Given the description of an element on the screen output the (x, y) to click on. 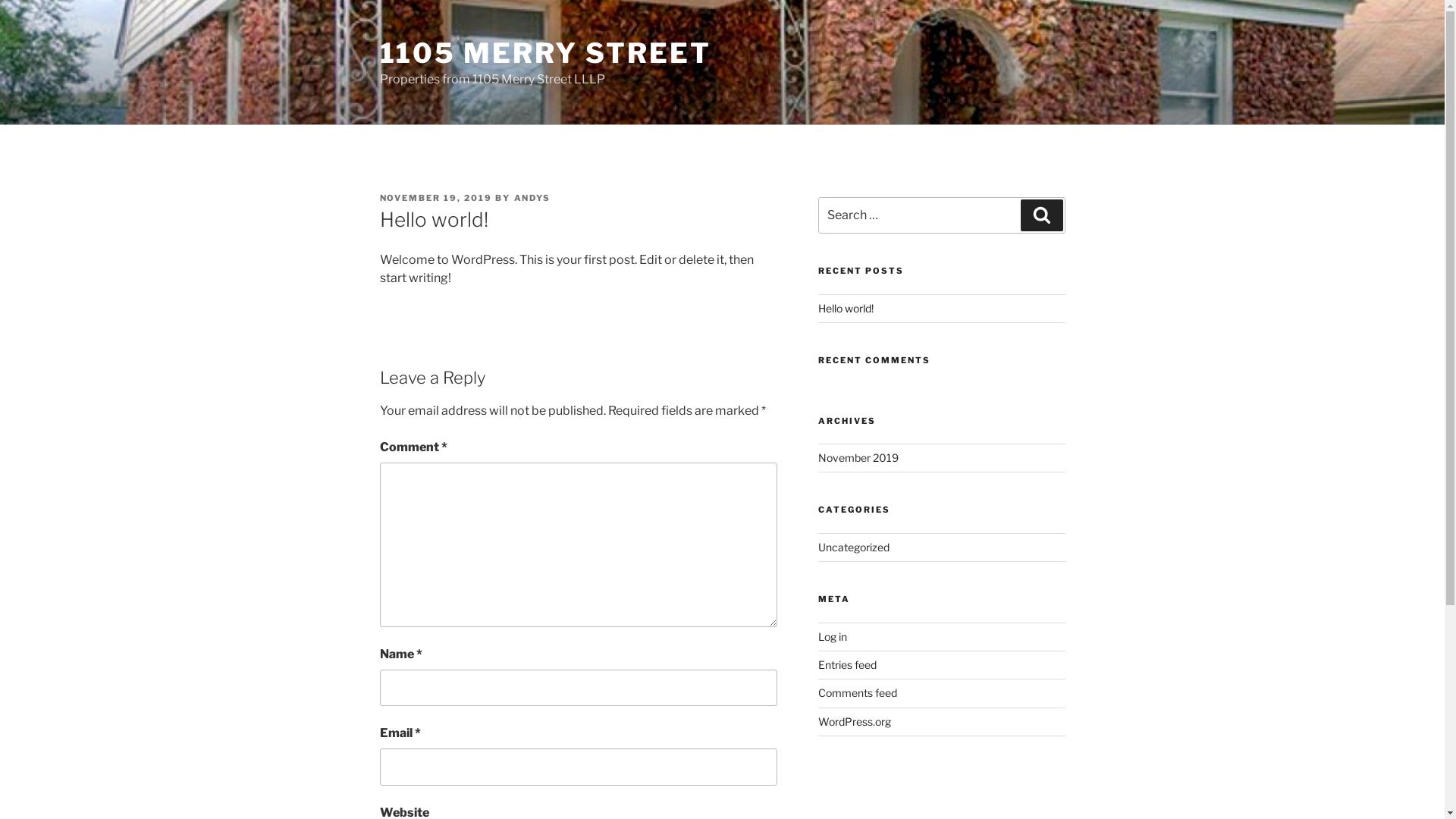
Search Element type: text (1041, 215)
Comments feed Element type: text (857, 692)
WordPress.org Element type: text (854, 721)
Hello world! Element type: text (845, 307)
1105 MERRY STREET Element type: text (544, 52)
ANDYS Element type: text (532, 197)
Entries feed Element type: text (847, 664)
Uncategorized Element type: text (853, 546)
Log in Element type: text (832, 635)
November 2019 Element type: text (858, 457)
NOVEMBER 19, 2019 Element type: text (435, 197)
